Given the description of an element on the screen output the (x, y) to click on. 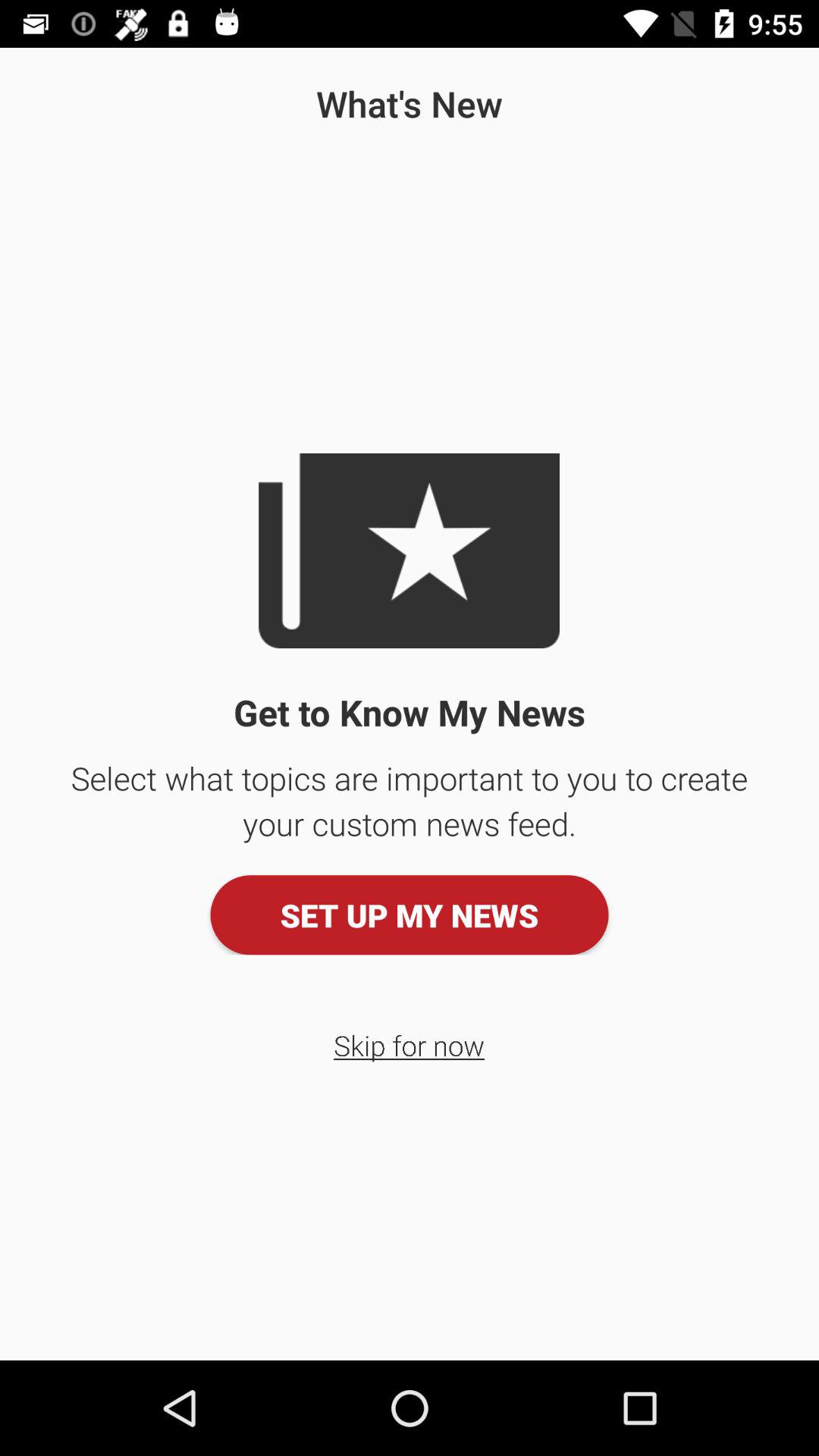
launch the skip for now app (409, 1044)
